Given the description of an element on the screen output the (x, y) to click on. 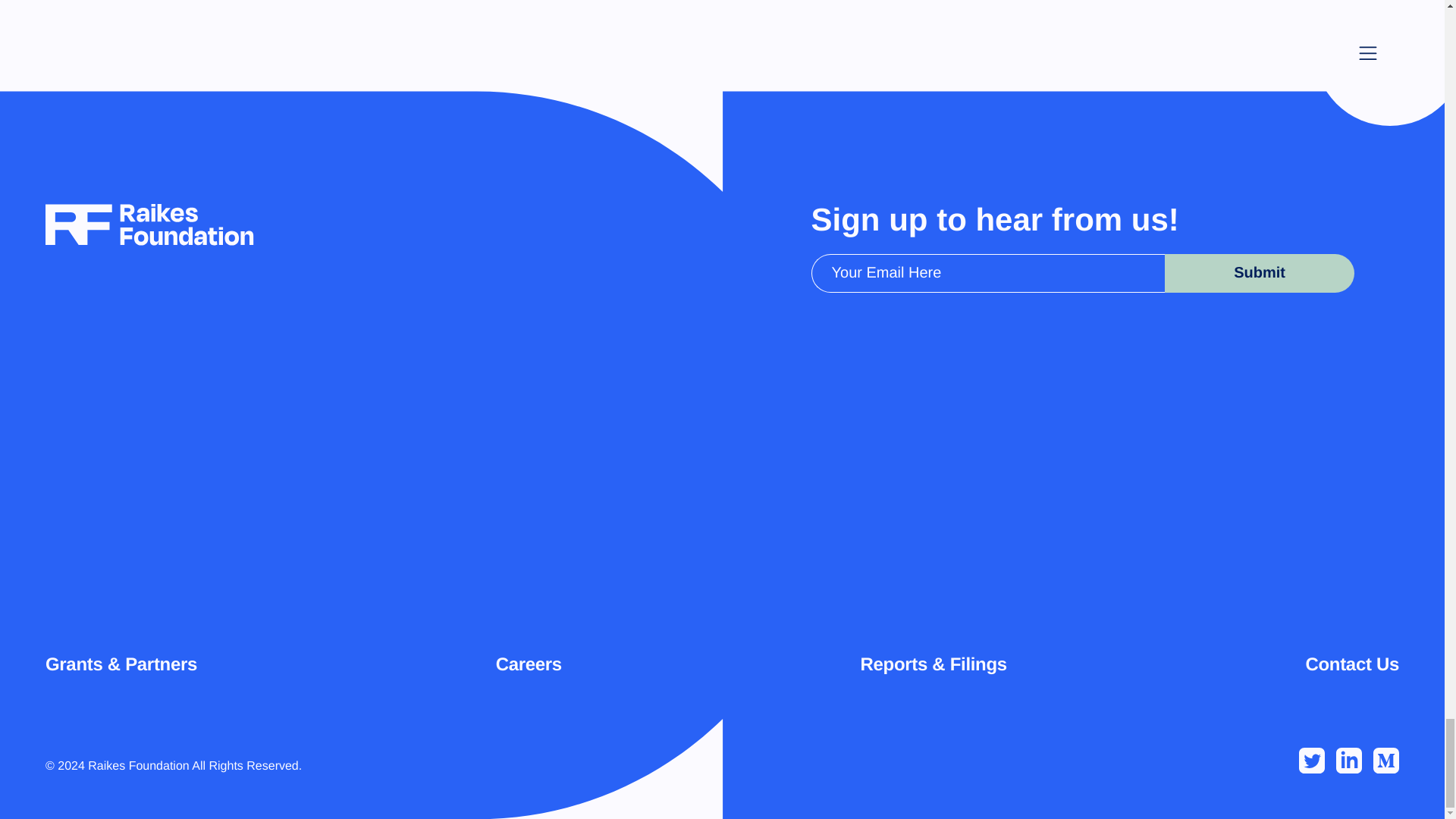
Linked In (1348, 760)
Medium (1386, 760)
Careers (529, 665)
Contact Us (1351, 665)
Twitter (1311, 760)
Submit (1259, 272)
